Given the description of an element on the screen output the (x, y) to click on. 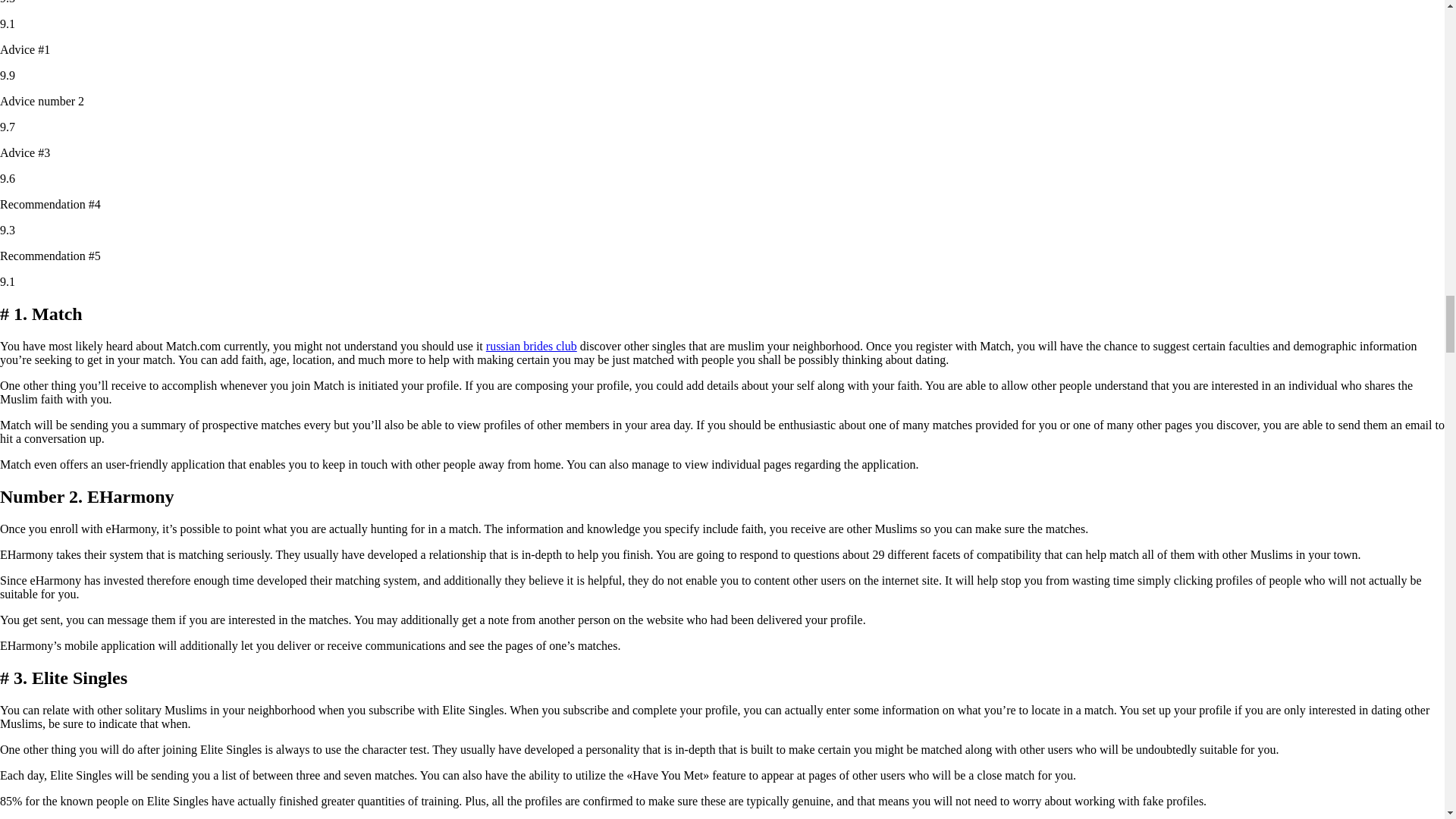
russian brides club (531, 345)
